Given the description of an element on the screen output the (x, y) to click on. 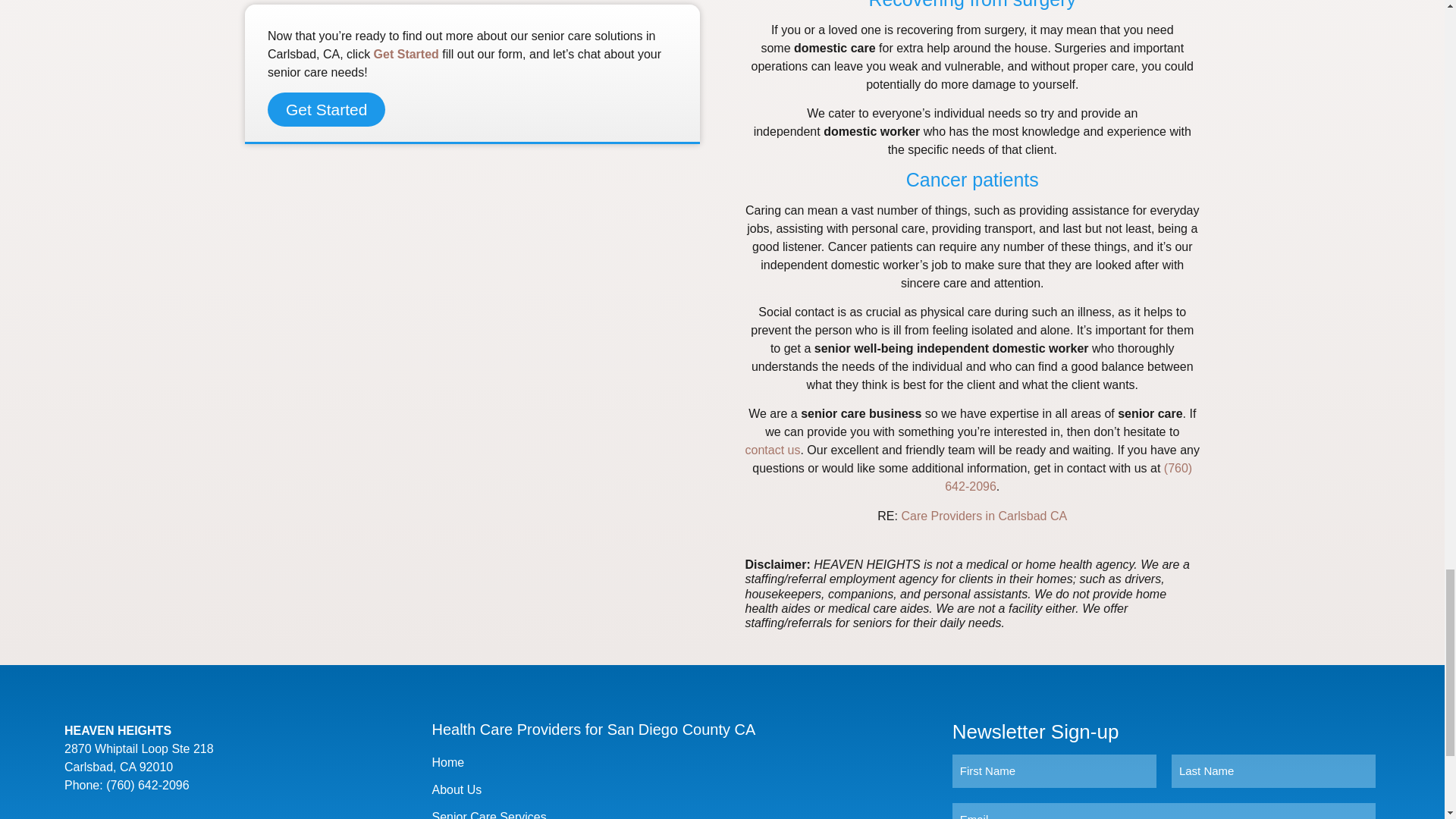
Get Started (326, 109)
contact us (772, 449)
Care Providers in Carlsbad CA (984, 515)
Care Providers in Carlsbad CA (984, 515)
Get Started (406, 53)
